Given the description of an element on the screen output the (x, y) to click on. 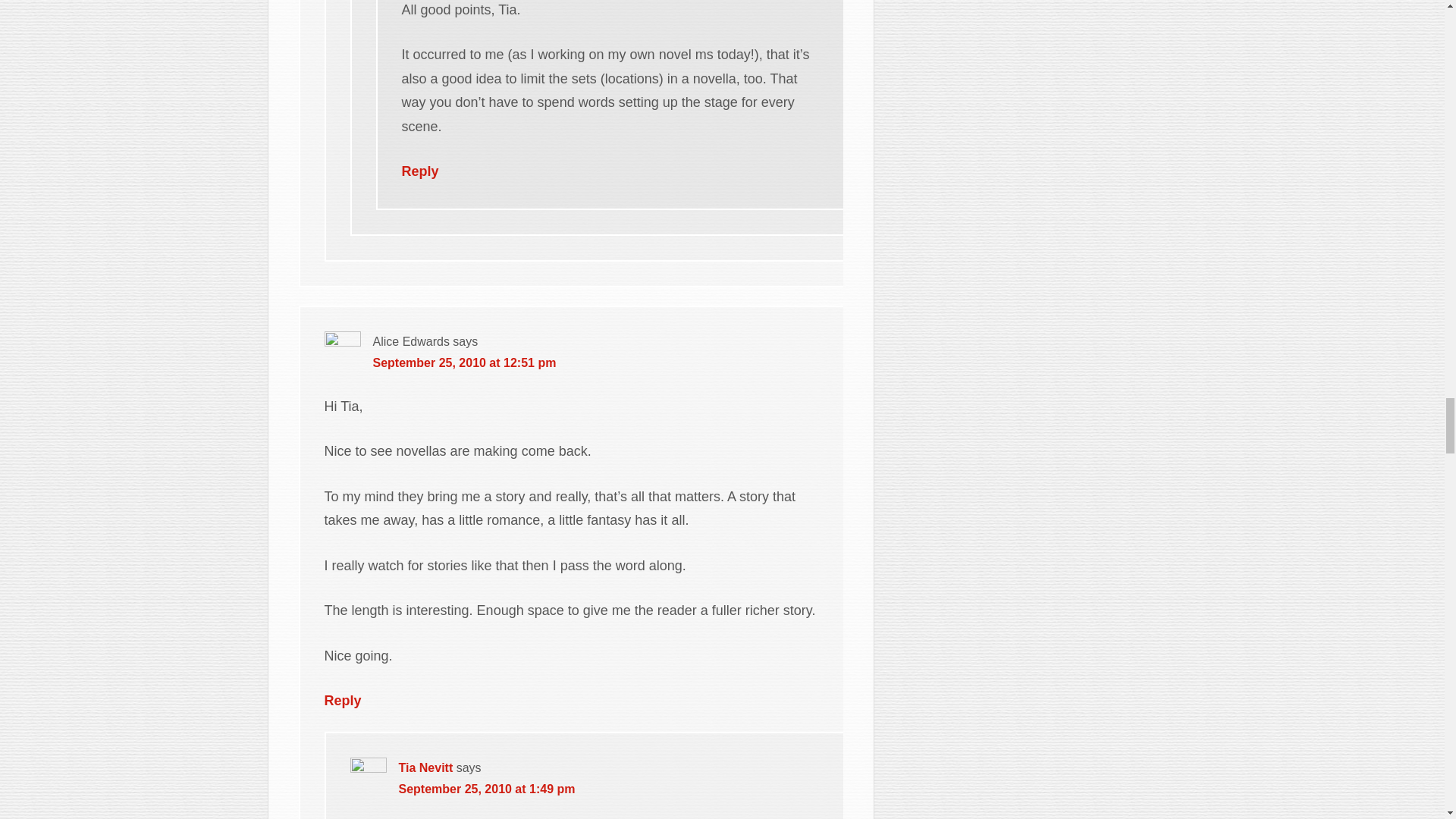
Reply (420, 171)
September 25, 2010 at 12:51 pm (464, 362)
